Given the description of an element on the screen output the (x, y) to click on. 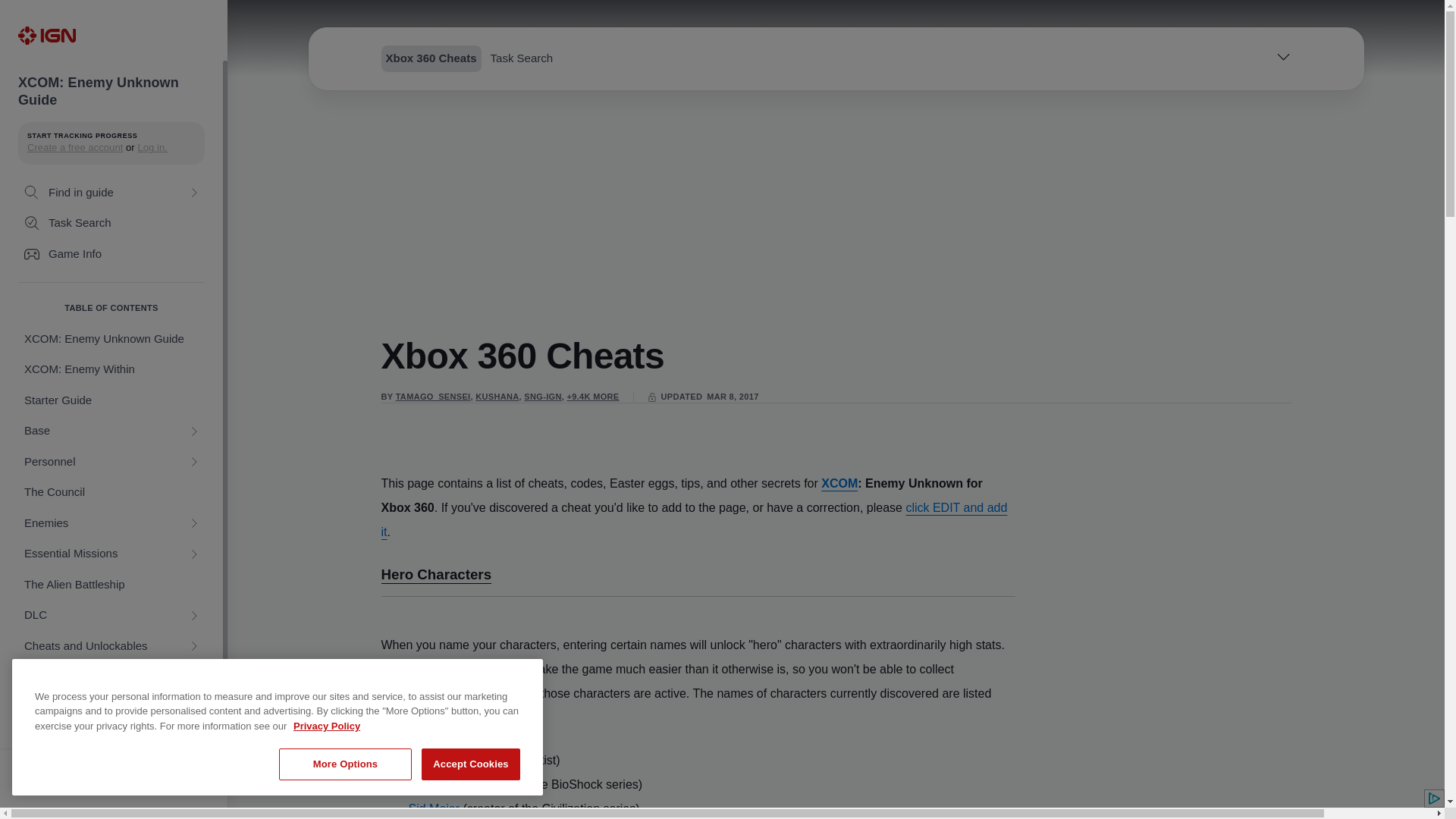
The Council (111, 491)
Essential Missions (111, 553)
DLC (111, 614)
Xbox 360 Cheats (111, 817)
Cheats and Unlockables (111, 645)
The Alien Battleship (111, 584)
Find in guide (111, 193)
Cheats and Unlockables (111, 645)
Personnel (111, 461)
Essential Missions (111, 553)
XCOM: Enemy Within (111, 369)
XCOM: Enemy Unknown Guide (111, 338)
Base (111, 430)
IOS Version (111, 707)
Log in. (151, 147)
